Given the description of an element on the screen output the (x, y) to click on. 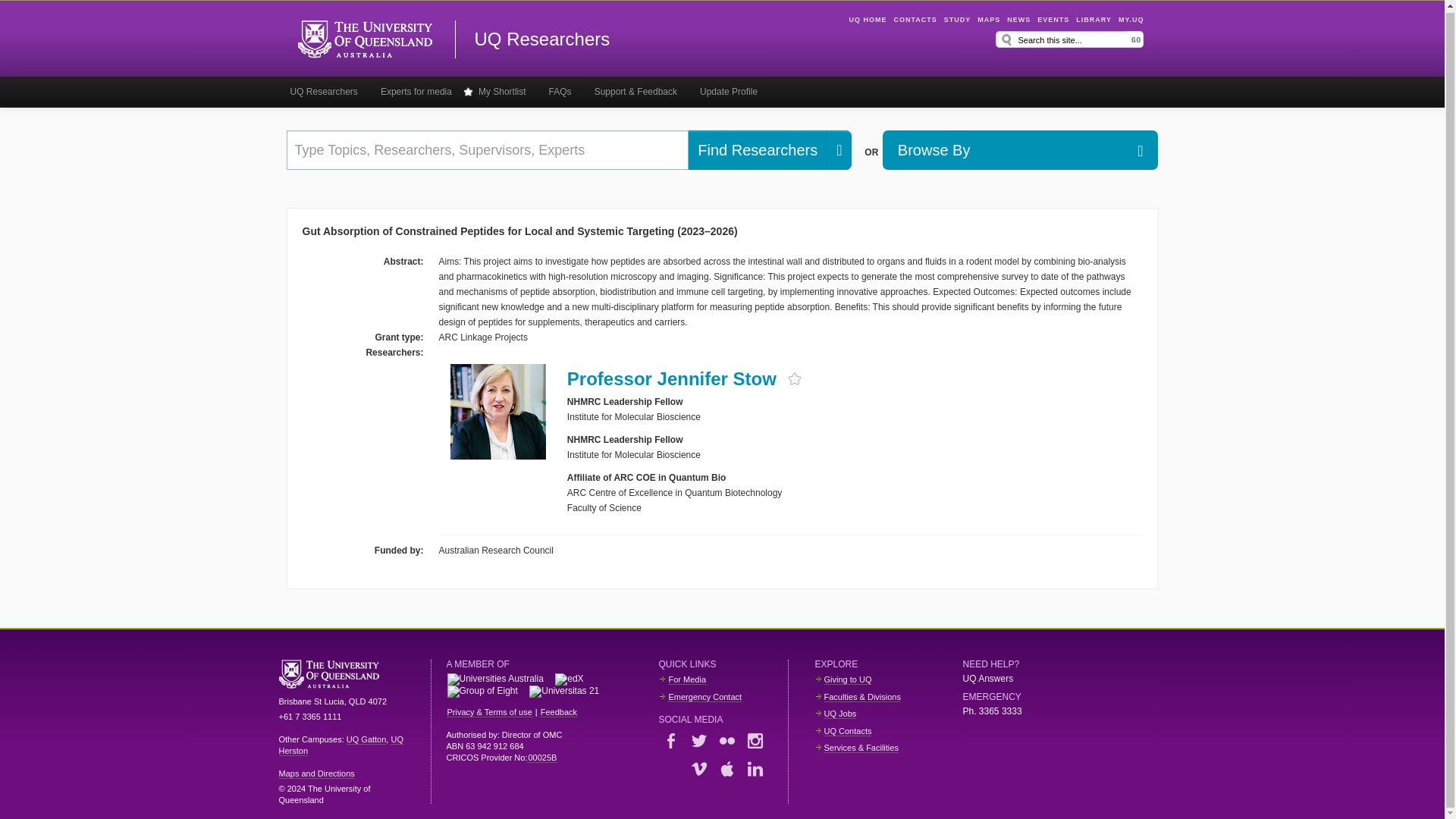
Search UQ (1135, 39)
Professor Jennifer Stow (671, 378)
UQ Herston (341, 744)
MAPS (988, 19)
Search this site... (1071, 39)
UQ HOME (867, 19)
Update Profile (728, 91)
Find Researchers (757, 149)
LIBRARY (1093, 19)
UQ Researchers (324, 91)
